Given the description of an element on the screen output the (x, y) to click on. 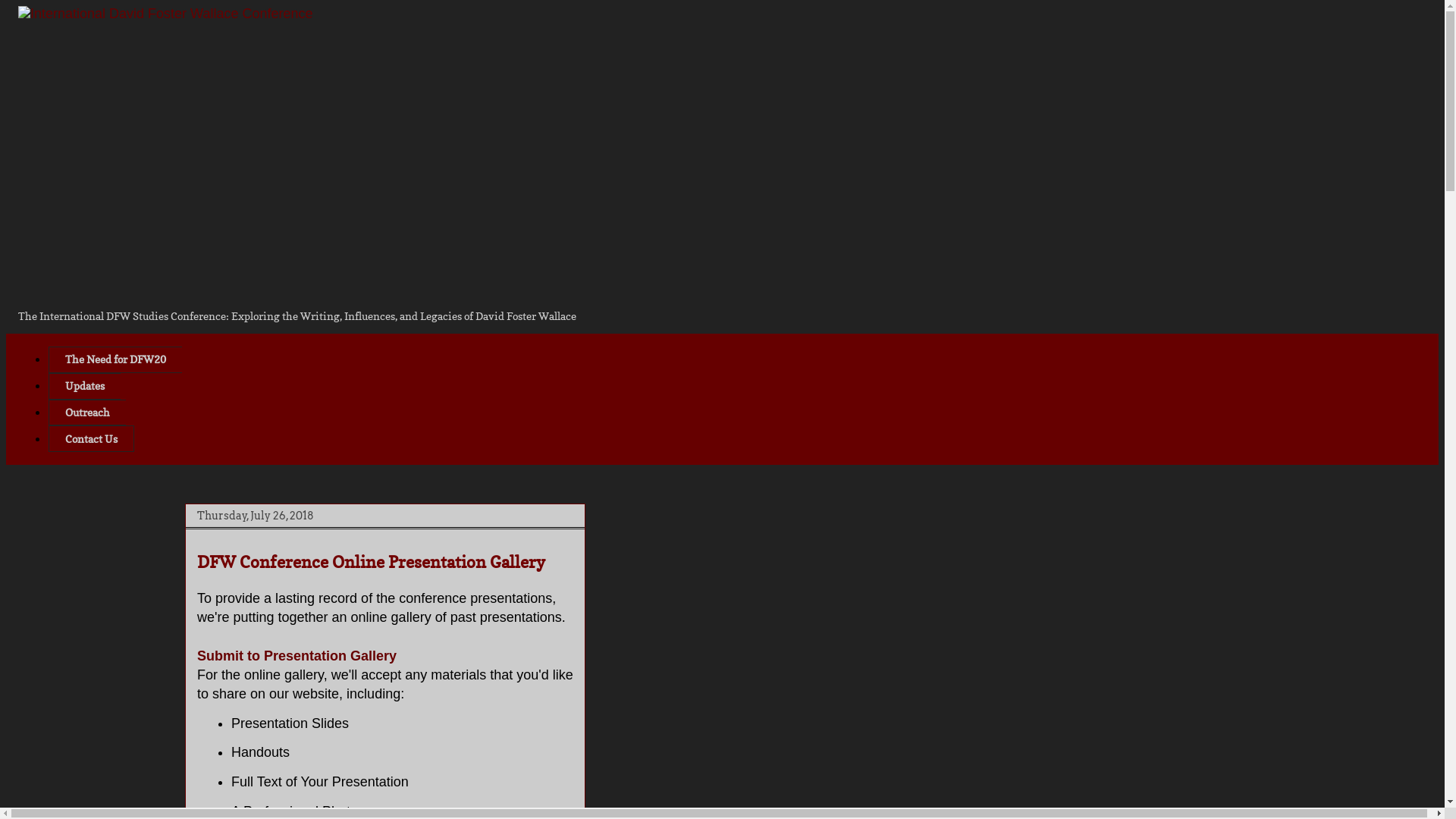
Contact Us Element type: text (91, 438)
Submit to Presentation Gallery Element type: text (296, 655)
Outreach Element type: text (86, 412)
Updates Element type: text (84, 386)
The Need for DFW20 Element type: text (115, 359)
